Given the description of an element on the screen output the (x, y) to click on. 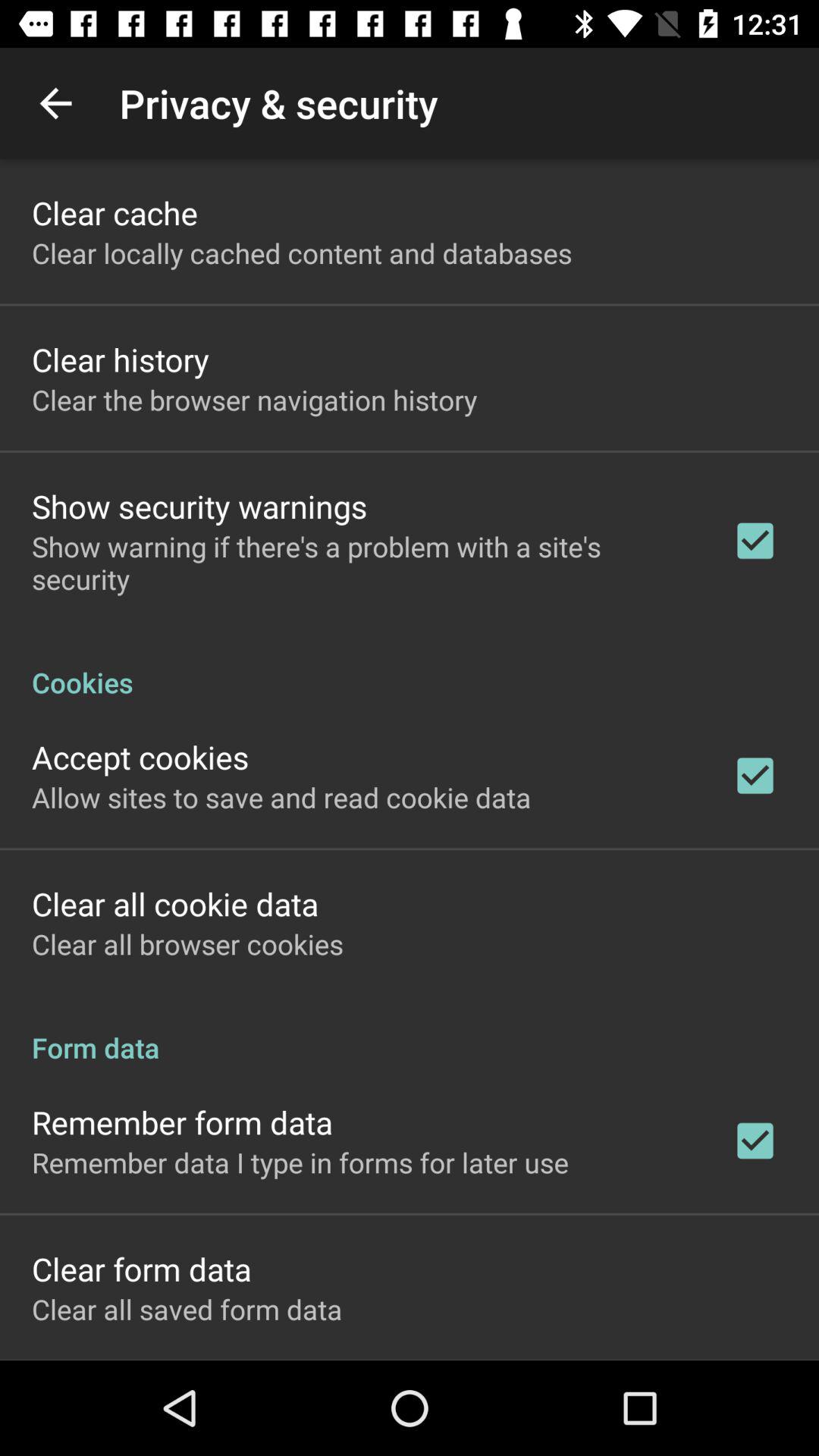
click the app below cookies (140, 756)
